Given the description of an element on the screen output the (x, y) to click on. 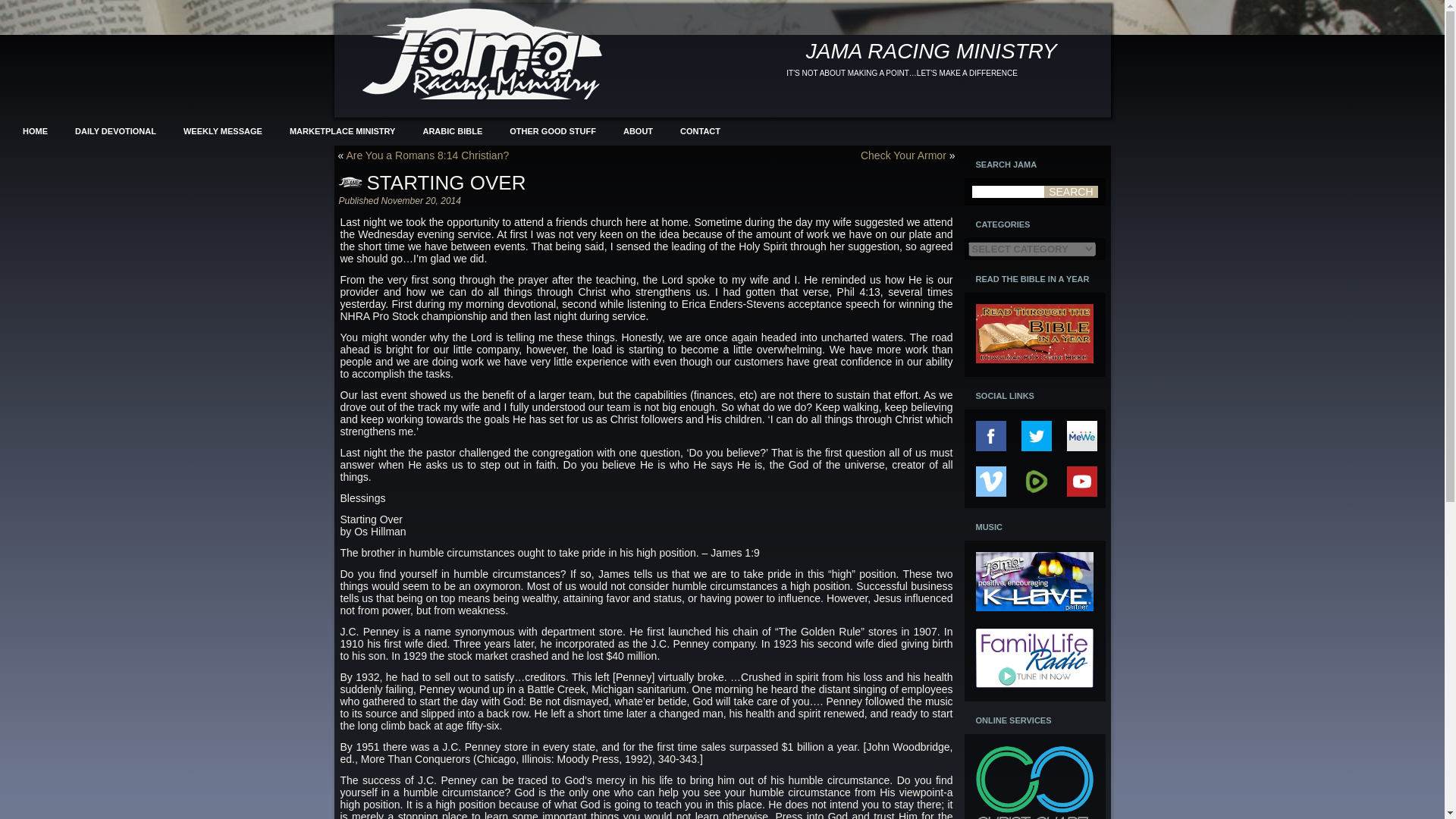
Home (35, 131)
Weekly Message (222, 131)
Other Good Stuff (552, 131)
Check Your Armor (903, 155)
MARKETPLACE MINISTRY (342, 131)
OTHER GOOD STUFF (552, 131)
Marketplace Ministry (342, 131)
Arabic Bible (452, 131)
CONTACT (699, 131)
WEEKLY MESSAGE (222, 131)
